Given the description of an element on the screen output the (x, y) to click on. 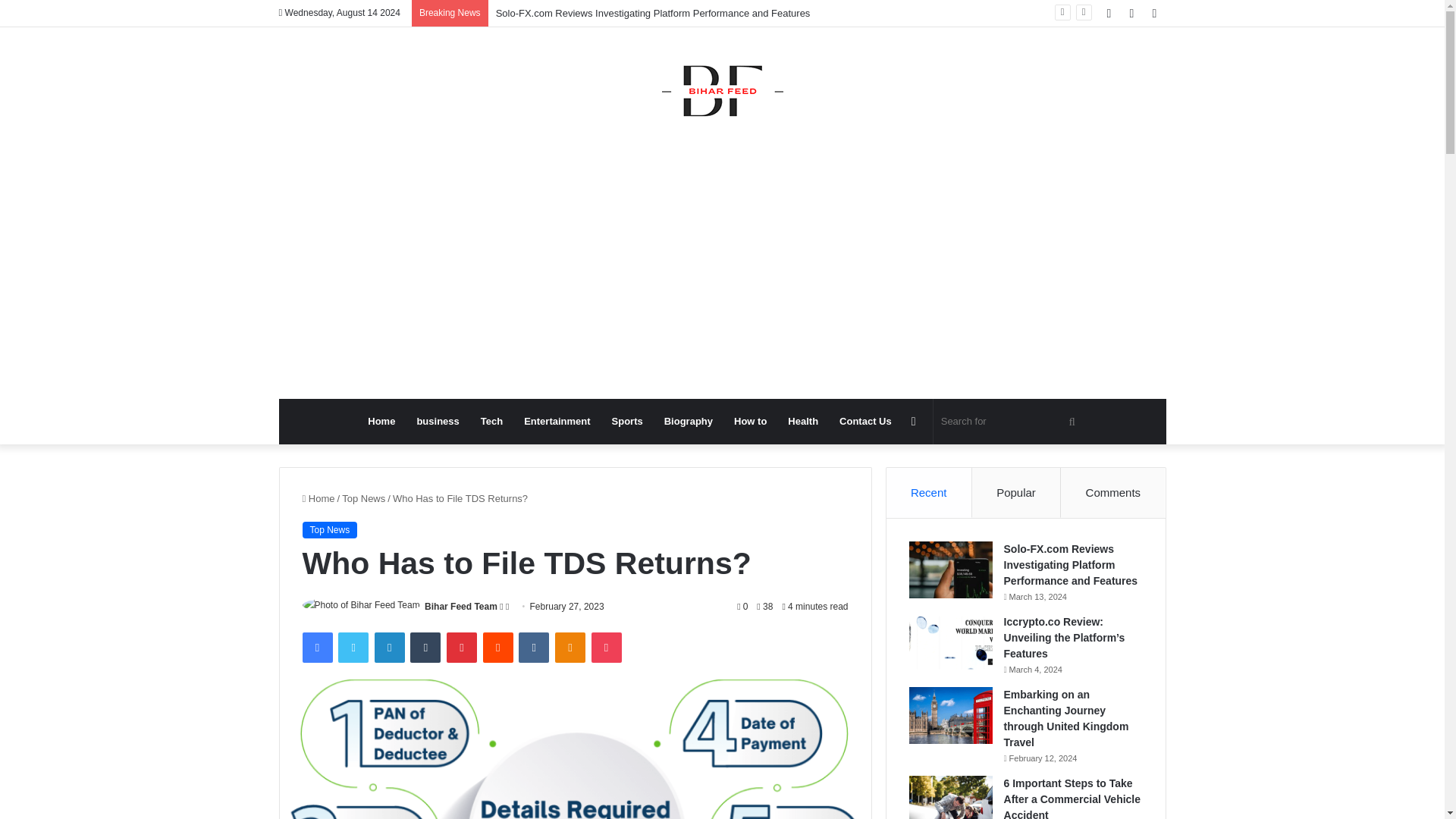
Tumblr (425, 647)
Pinterest (461, 647)
VKontakte (533, 647)
Twitter (352, 647)
Twitter (352, 647)
Odnoklassniki (569, 647)
Reddit (498, 647)
Top News (363, 498)
Bihar Feed Team (461, 606)
